Given the description of an element on the screen output the (x, y) to click on. 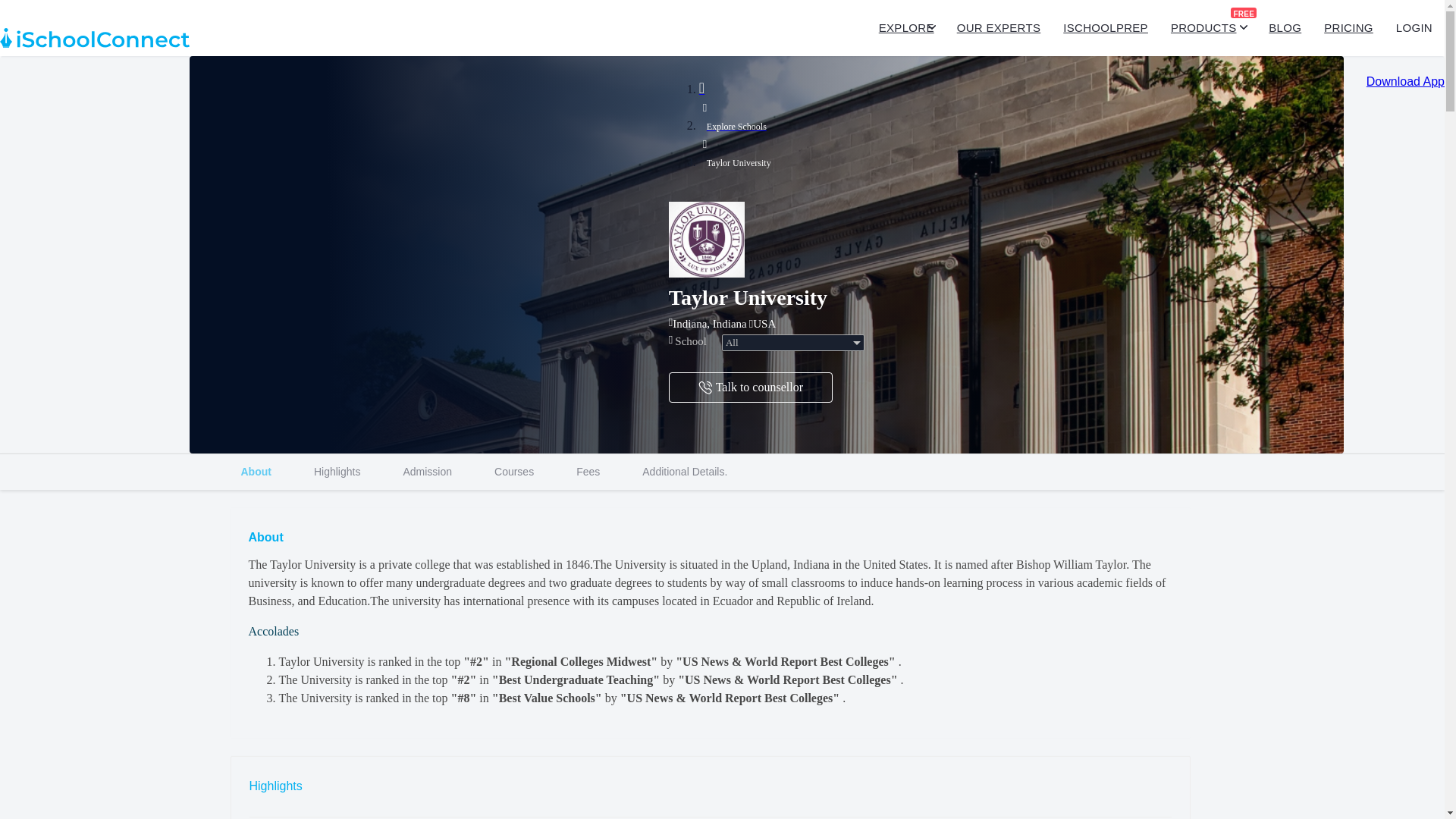
iSchoolConnect (722, 471)
EXPLORE (94, 38)
